Given the description of an element on the screen output the (x, y) to click on. 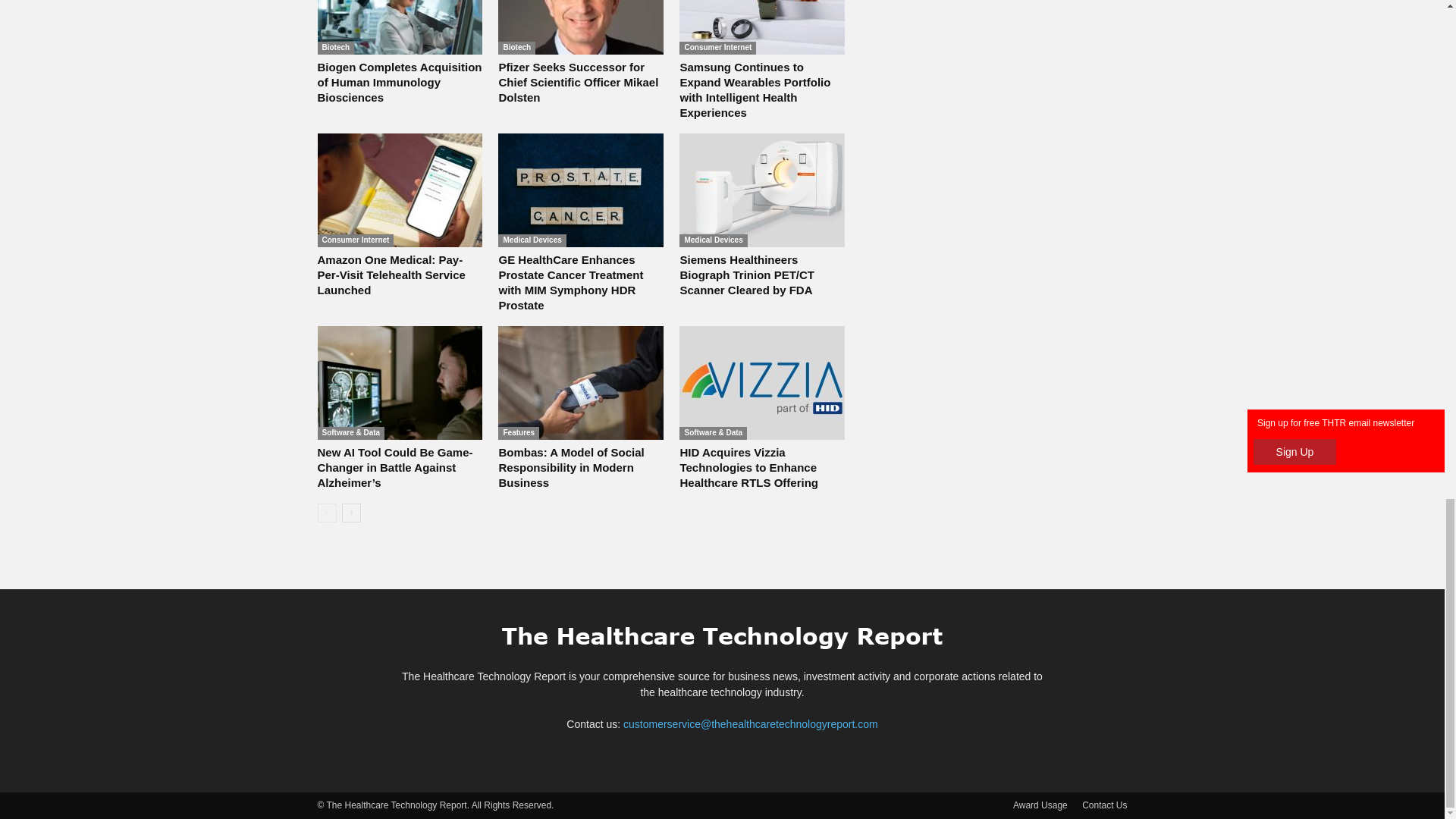
Biogen Completes Acquisition of Human Immunology Biosciences (399, 82)
Biogen Completes Acquisition of Human Immunology Biosciences (399, 27)
